Given the description of an element on the screen output the (x, y) to click on. 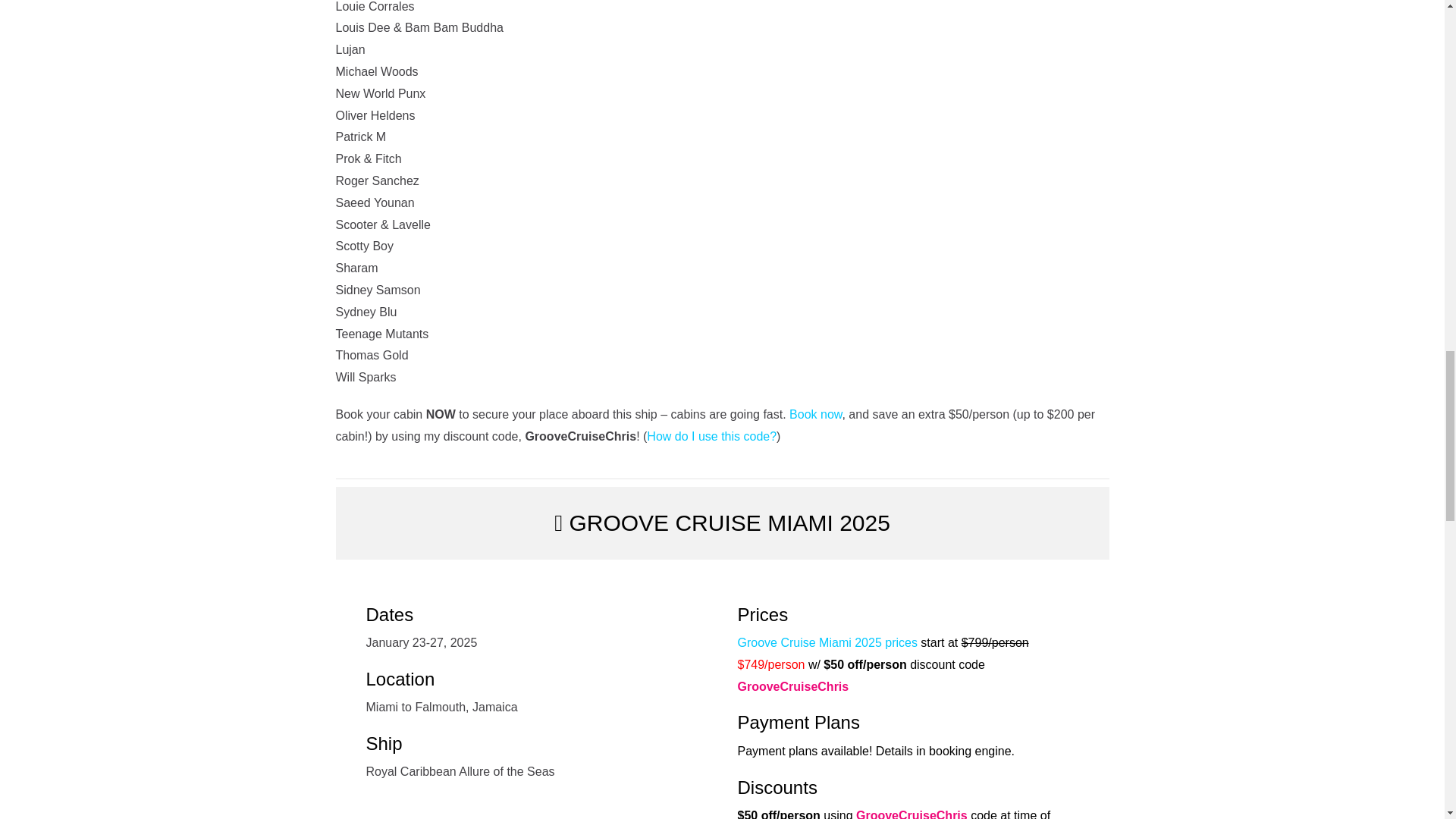
Groove Cruise Miami 2025 prices (826, 642)
GROOVE CRUISE MIAMI 2025 (721, 522)
Book now (815, 413)
How do I use this code? (711, 436)
GrooveCruiseChris (792, 686)
GrooveCruiseChris (912, 814)
